Given the description of an element on the screen output the (x, y) to click on. 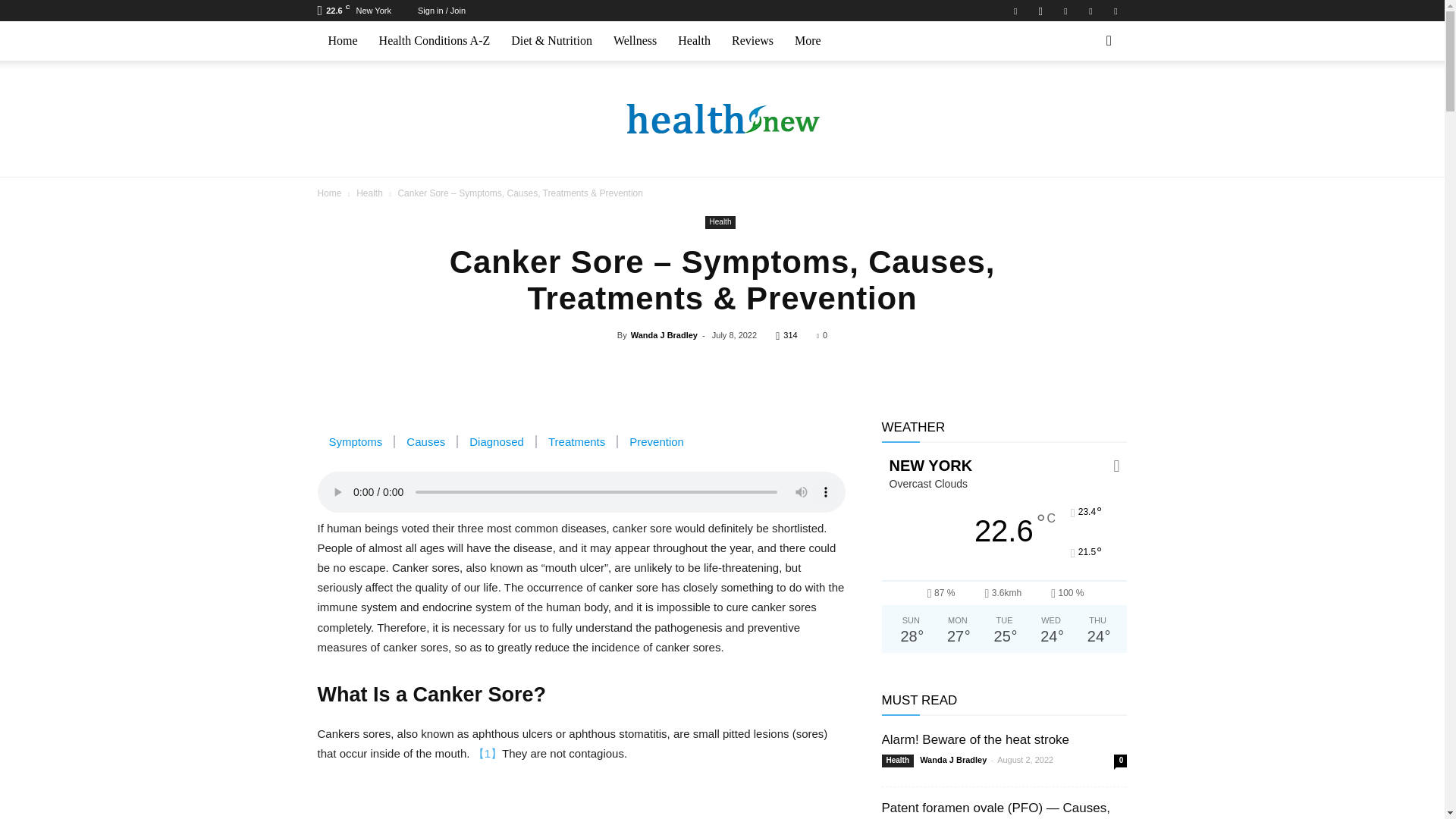
Vimeo (1090, 10)
Twitter (1065, 10)
Facebook (1015, 10)
Home (342, 40)
Instagram (1040, 10)
Health Conditions A-Z (434, 40)
Youtube (1114, 10)
